Given the description of an element on the screen output the (x, y) to click on. 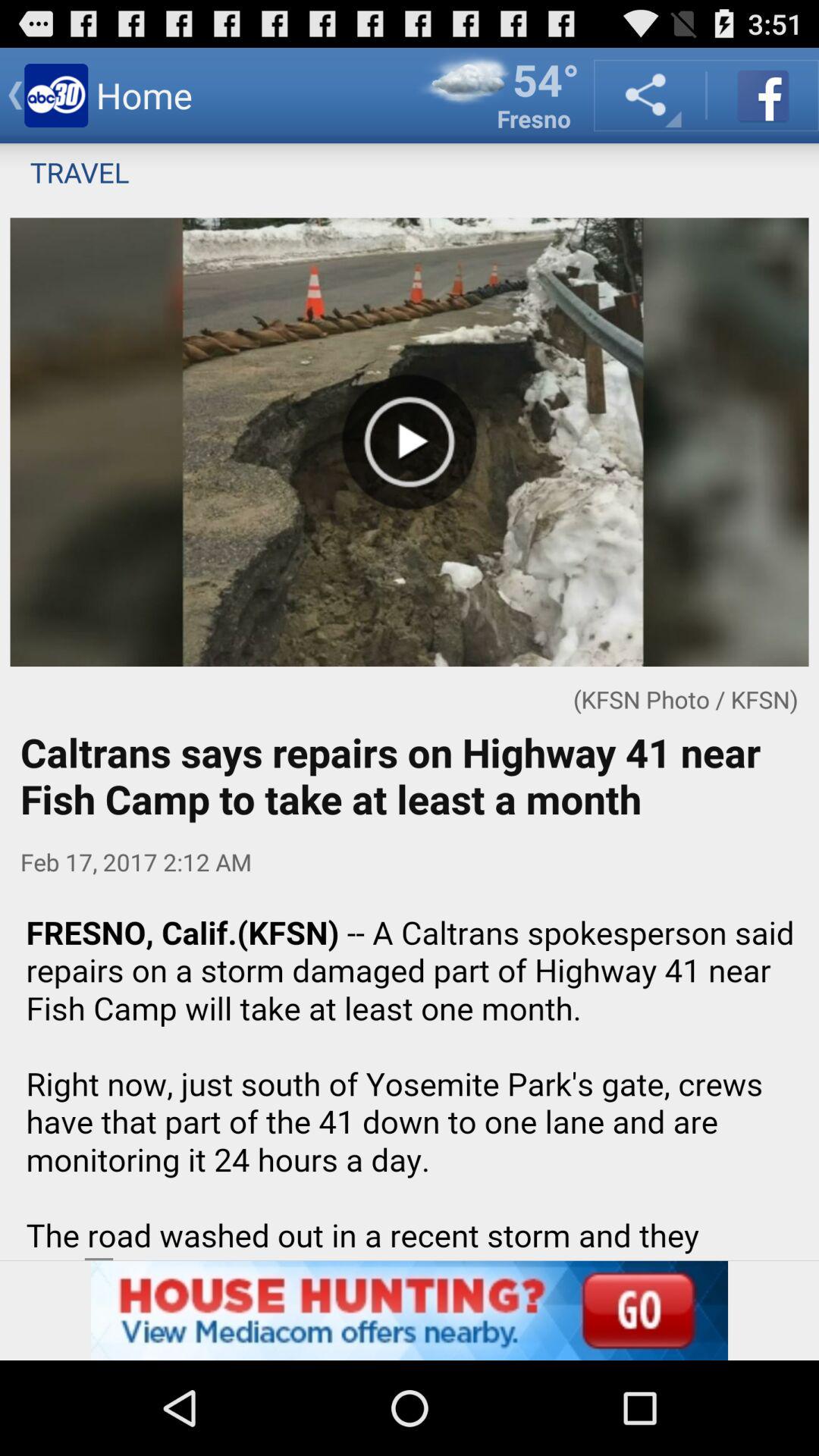
advatisment (409, 1078)
